Given the description of an element on the screen output the (x, y) to click on. 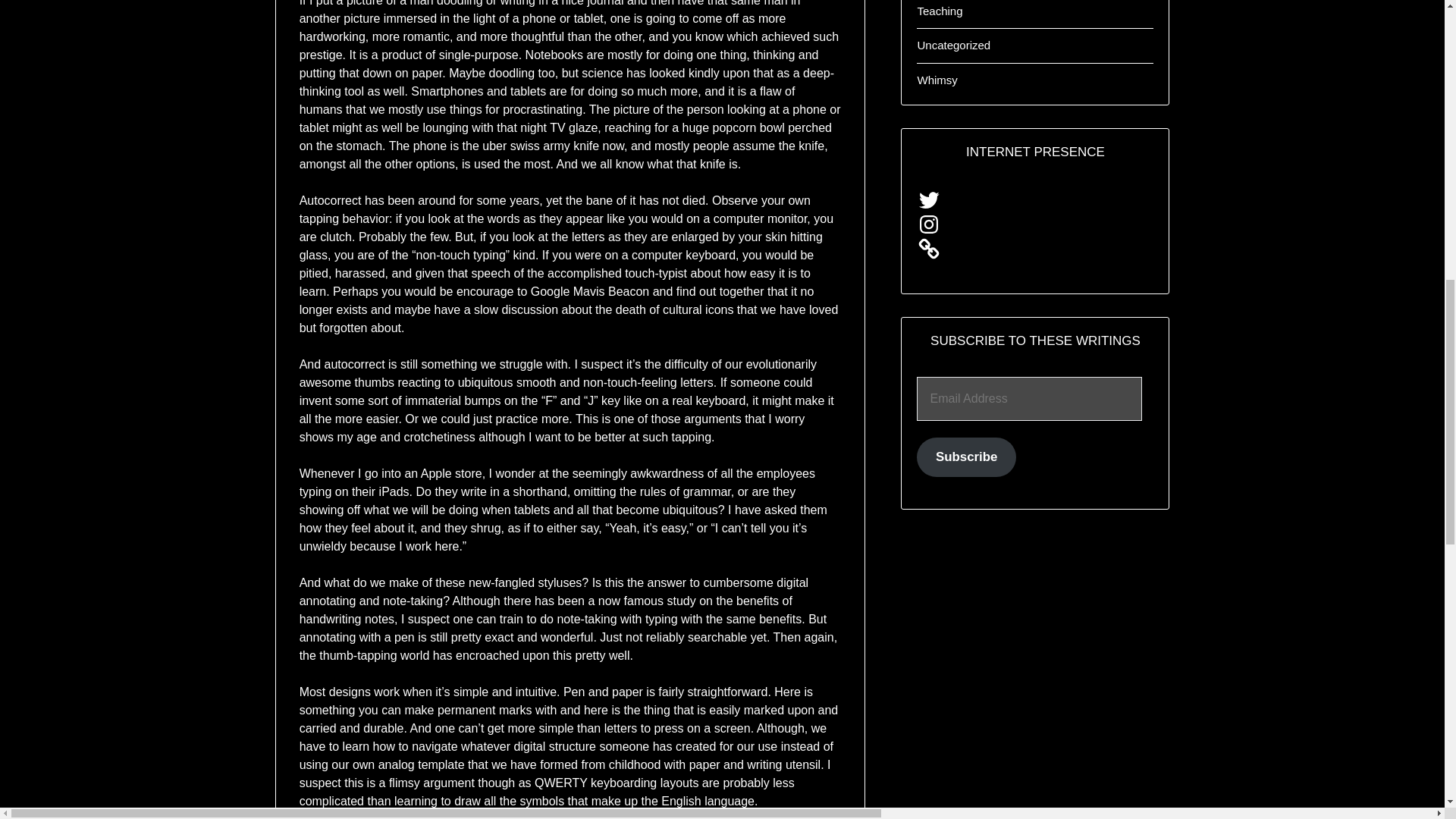
Instagram (928, 224)
Whimsy (936, 79)
Subscribe (965, 456)
Teaching (939, 10)
Twitter (928, 200)
Uncategorized (953, 44)
